Given the description of an element on the screen output the (x, y) to click on. 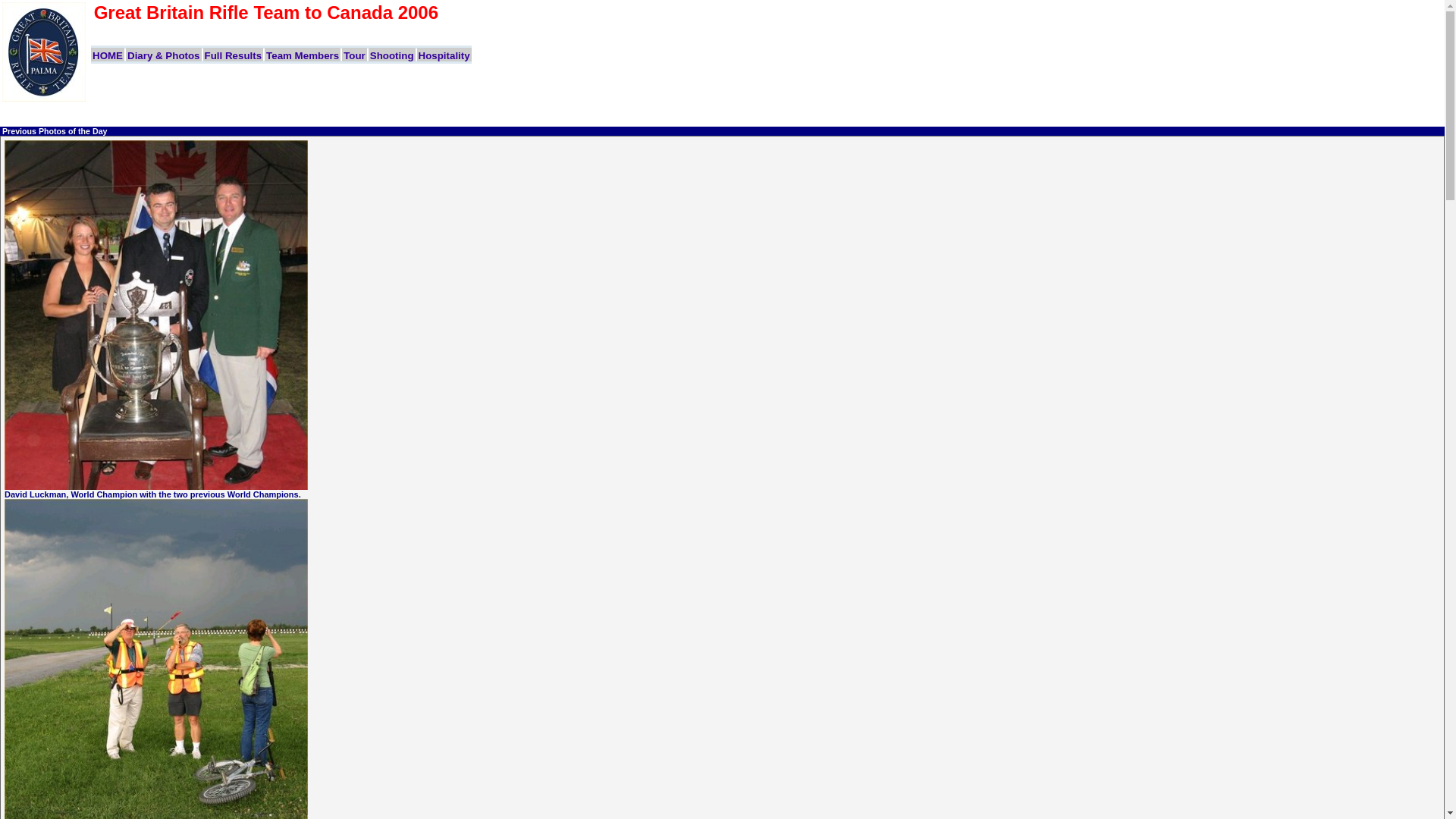
Shooting (391, 54)
Hospitality (444, 54)
HOME (107, 54)
